Given the description of an element on the screen output the (x, y) to click on. 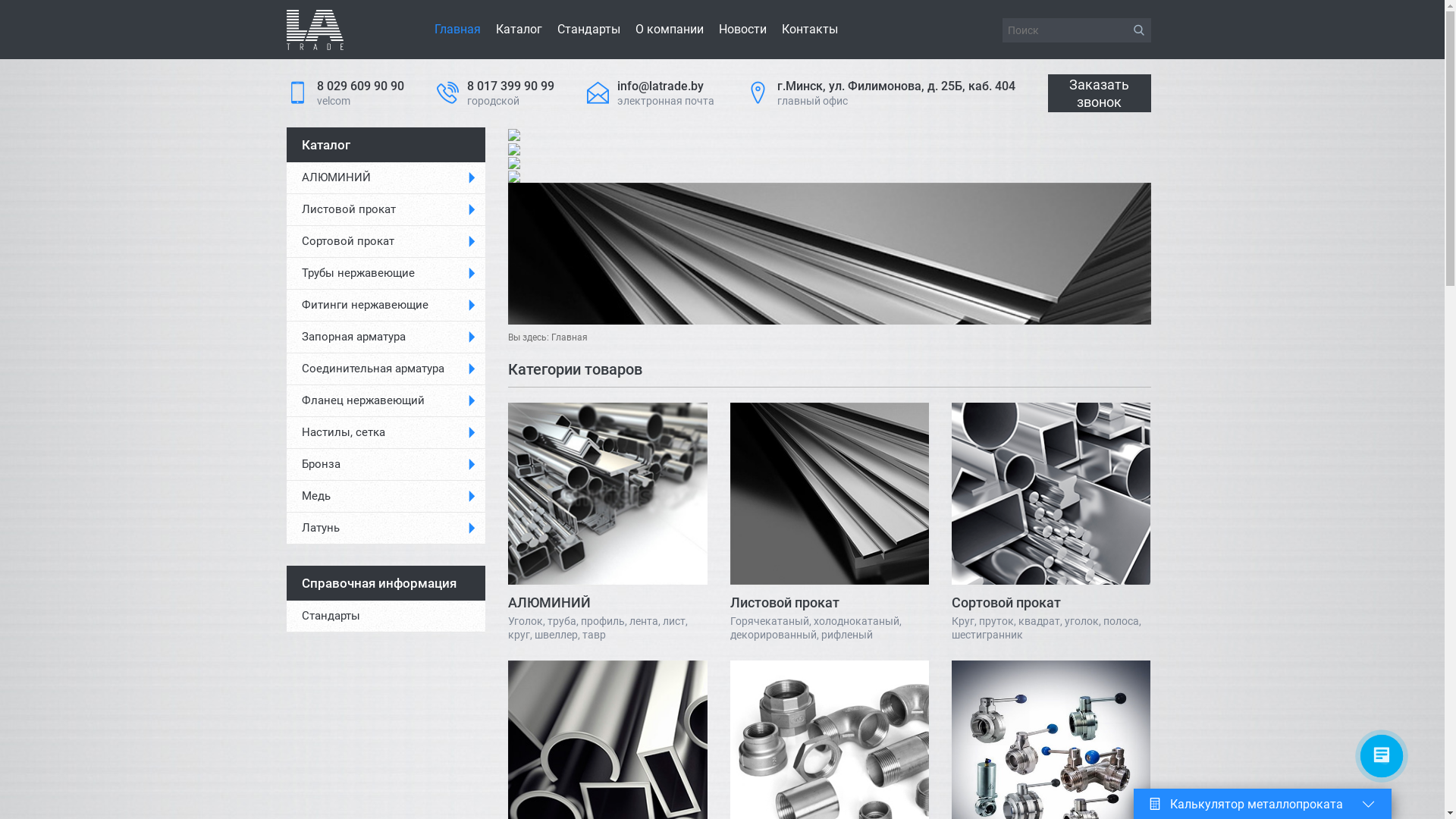
8 017 399 90 99 Element type: text (510, 85)
info@latrade.by Element type: text (660, 85)
8 029 609 90 90 Element type: text (360, 85)
